Given the description of an element on the screen output the (x, y) to click on. 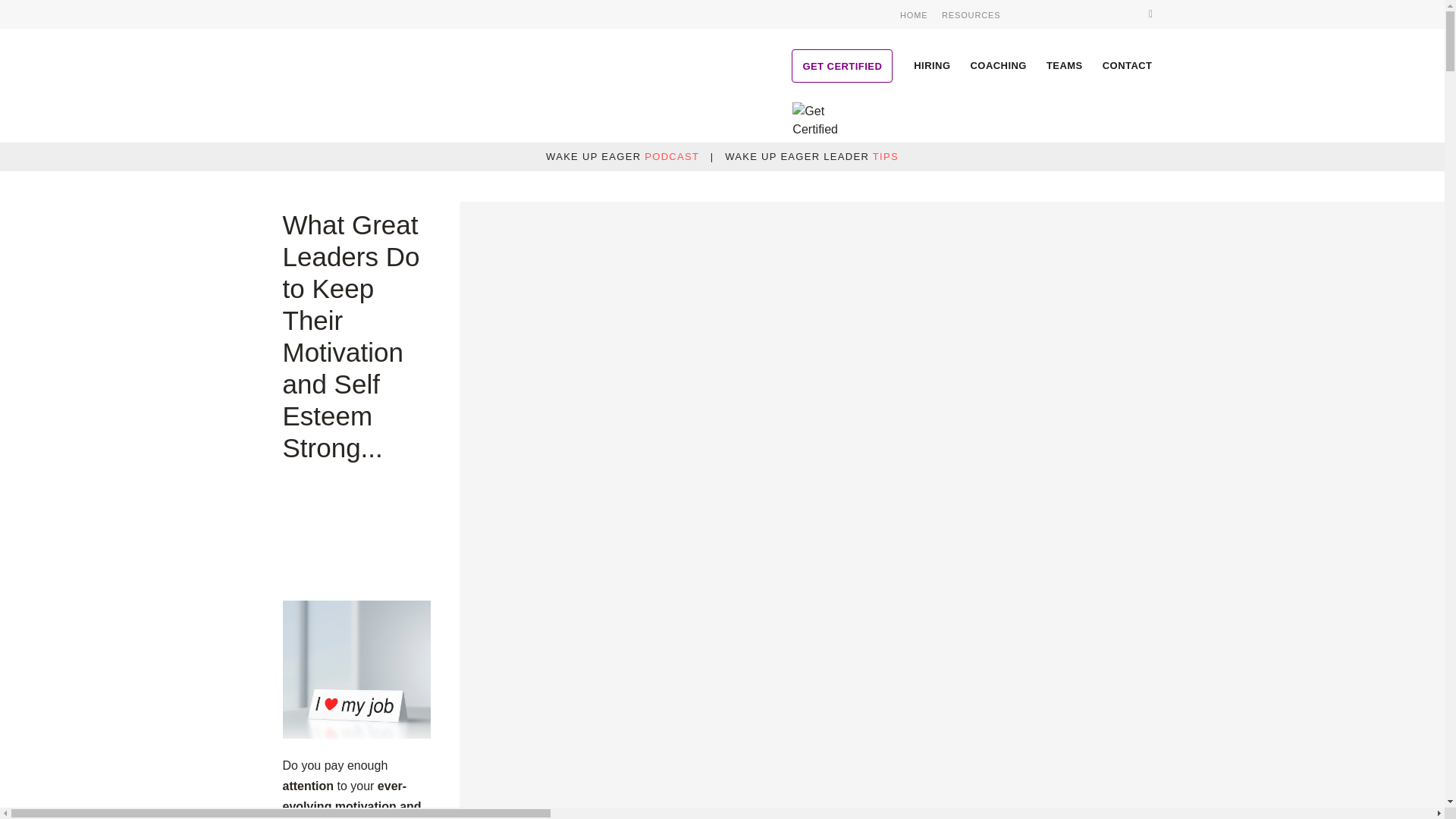
GET CERTIFIED (842, 65)
Priceless Professional on Twitter (1064, 14)
TIPS (885, 156)
HOME (913, 15)
Priceless Professional on LinkedIn (1087, 14)
Go to WakeUpEagerWorkforce Podcast Episode Directory (966, 793)
TEAMS (1064, 65)
COACHING (998, 65)
Priceless Professional on Facebook (1040, 14)
HIRING (931, 65)
PODCAST (671, 156)
Priceless Professional RSS Feed (1110, 14)
PRICELESSPROFESSIONAL.COM (373, 64)
Subscribe and Listen to the Podcast (966, 793)
